Given the description of an element on the screen output the (x, y) to click on. 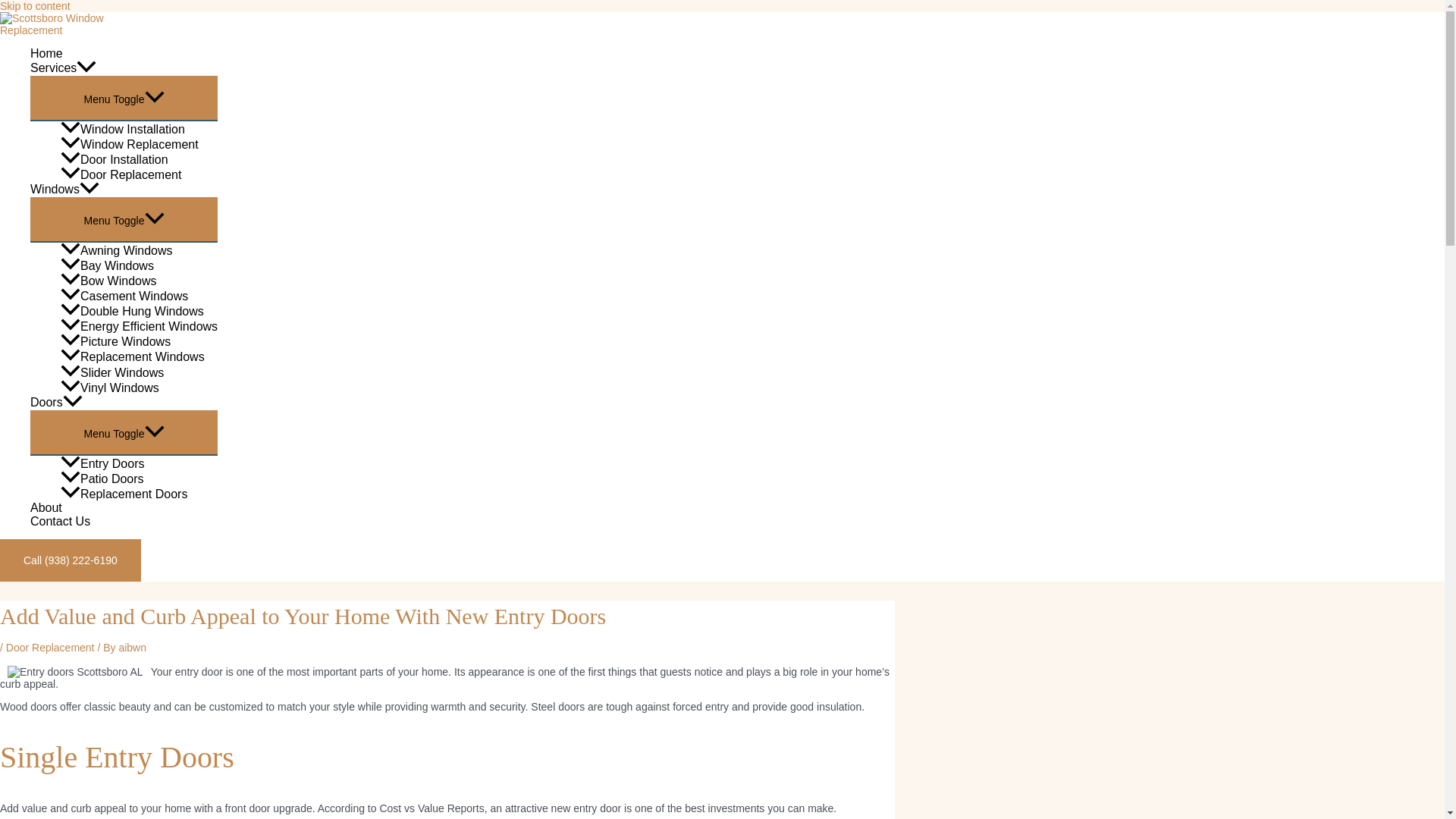
Windows (123, 189)
Double Hung Windows (138, 310)
Skip to content (34, 6)
Picture Windows (138, 340)
Slider Windows (138, 371)
Skip to content (34, 6)
Window Replacement (138, 143)
View all posts by aibwn (132, 647)
Energy Efficient Windows (138, 325)
Patio Doors (138, 478)
